Given the description of an element on the screen output the (x, y) to click on. 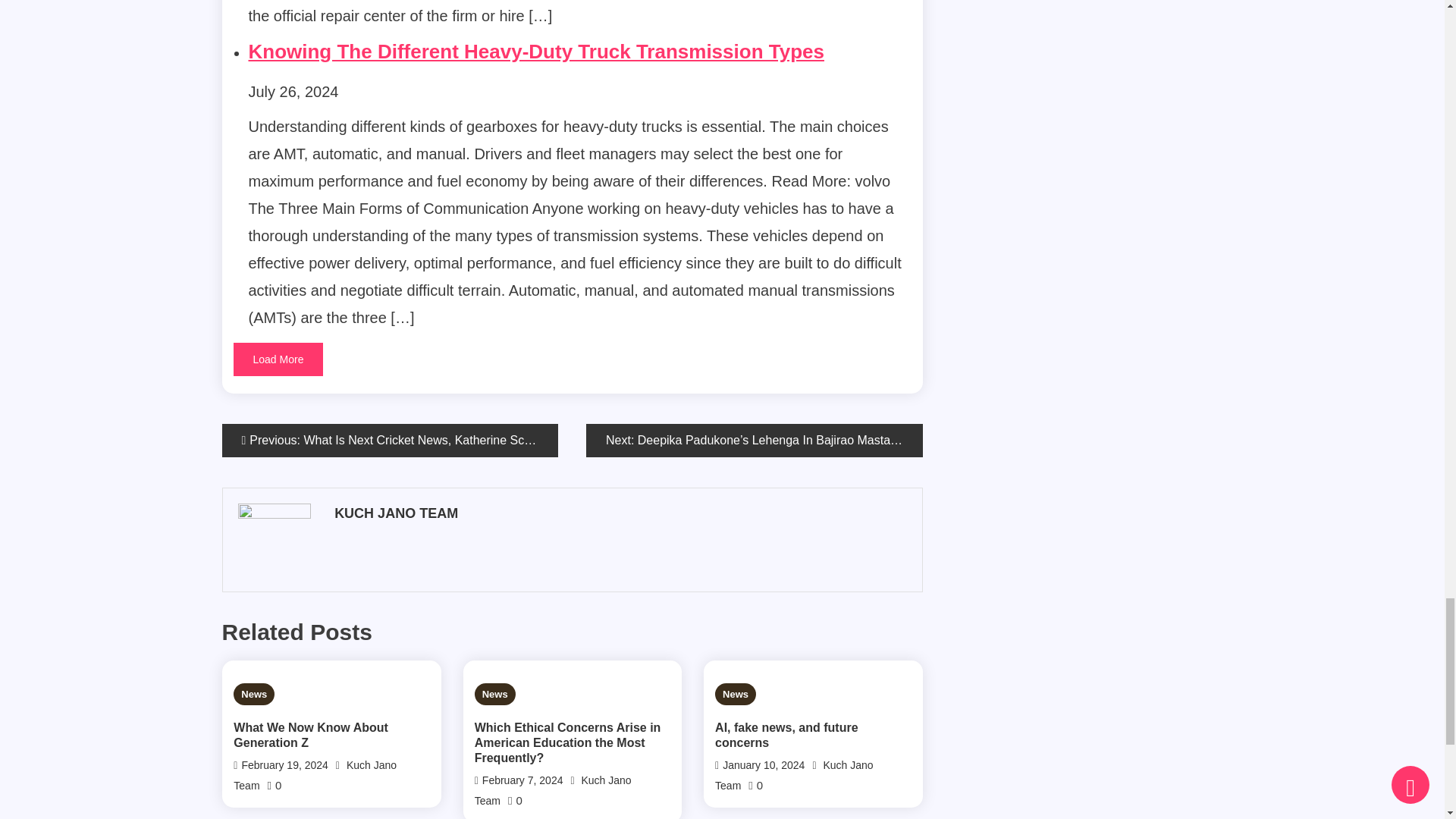
Knowing The Different Heavy-Duty Truck Transmission Types (536, 51)
Posts by Kuch Jano Team (618, 513)
Load More (277, 359)
News (253, 694)
February 19, 2024 (284, 765)
KUCH JANO TEAM (618, 513)
What We Now Know About Generation Z (330, 735)
Kuch Jano Team (314, 775)
